Given the description of an element on the screen output the (x, y) to click on. 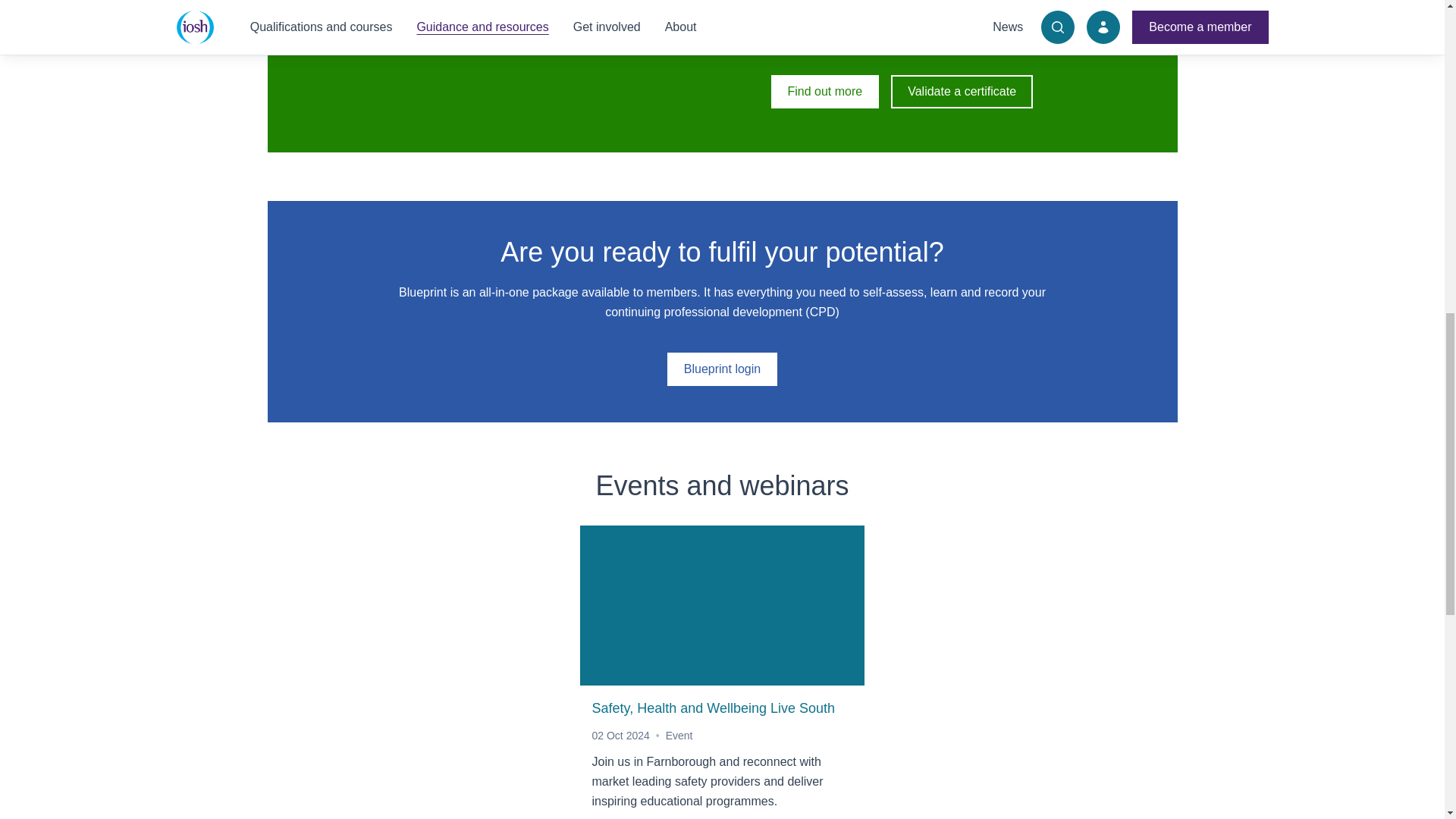
Safety, Health and Wellbeing Live South (721, 671)
Find out more (824, 91)
Validate a certificate (961, 91)
